Given the description of an element on the screen output the (x, y) to click on. 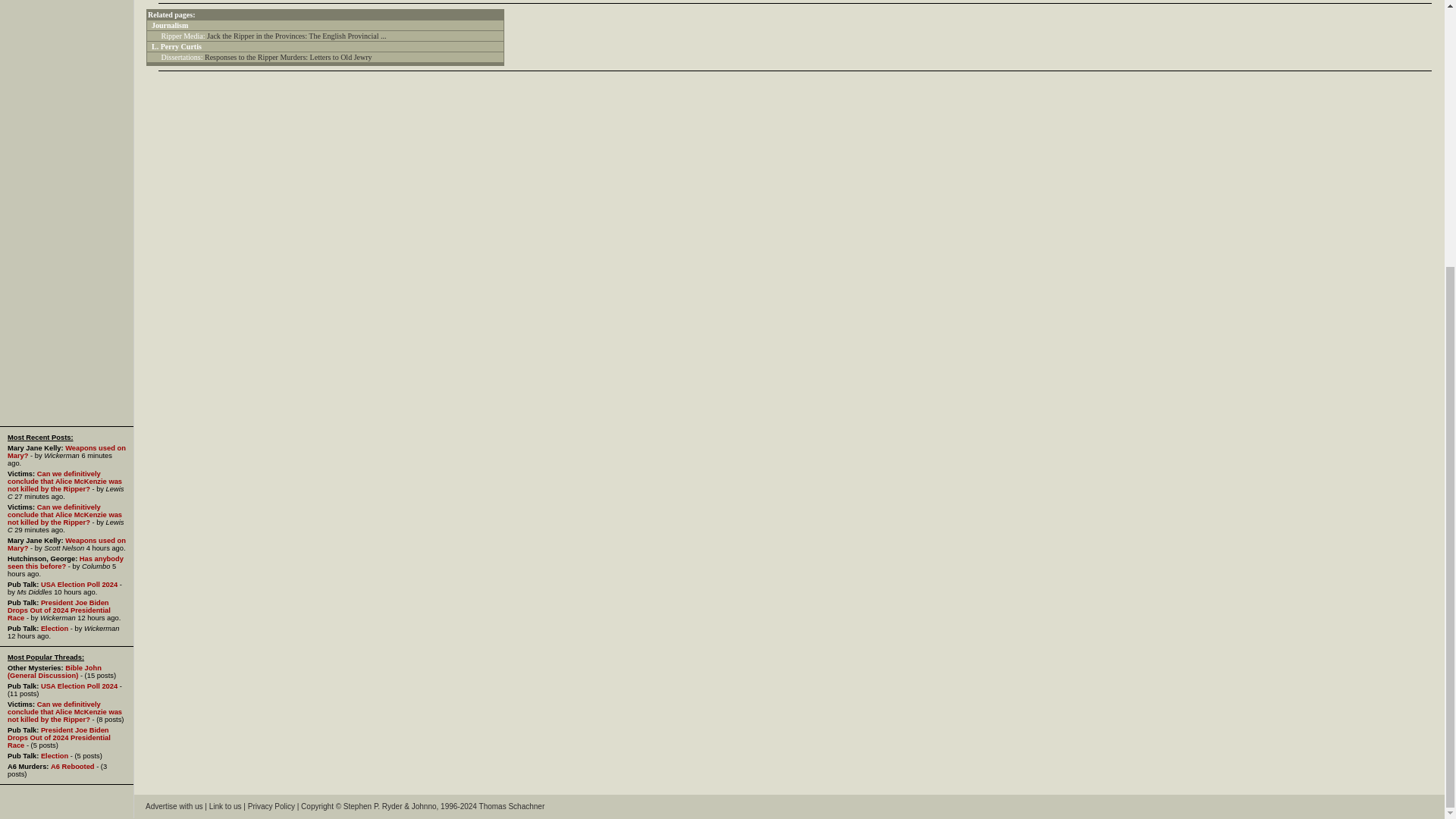
Weapons used on Mary? (66, 451)
USA Election Poll 2024 (78, 584)
Has anybody seen this before? (65, 562)
President Joe Biden Drops Out of 2024 Presidential Race (58, 737)
USA Election Poll 2024 (78, 686)
Weapons used on Mary? (66, 544)
Election (54, 628)
President Joe Biden Drops Out of 2024 Presidential Race (58, 609)
